Given the description of an element on the screen output the (x, y) to click on. 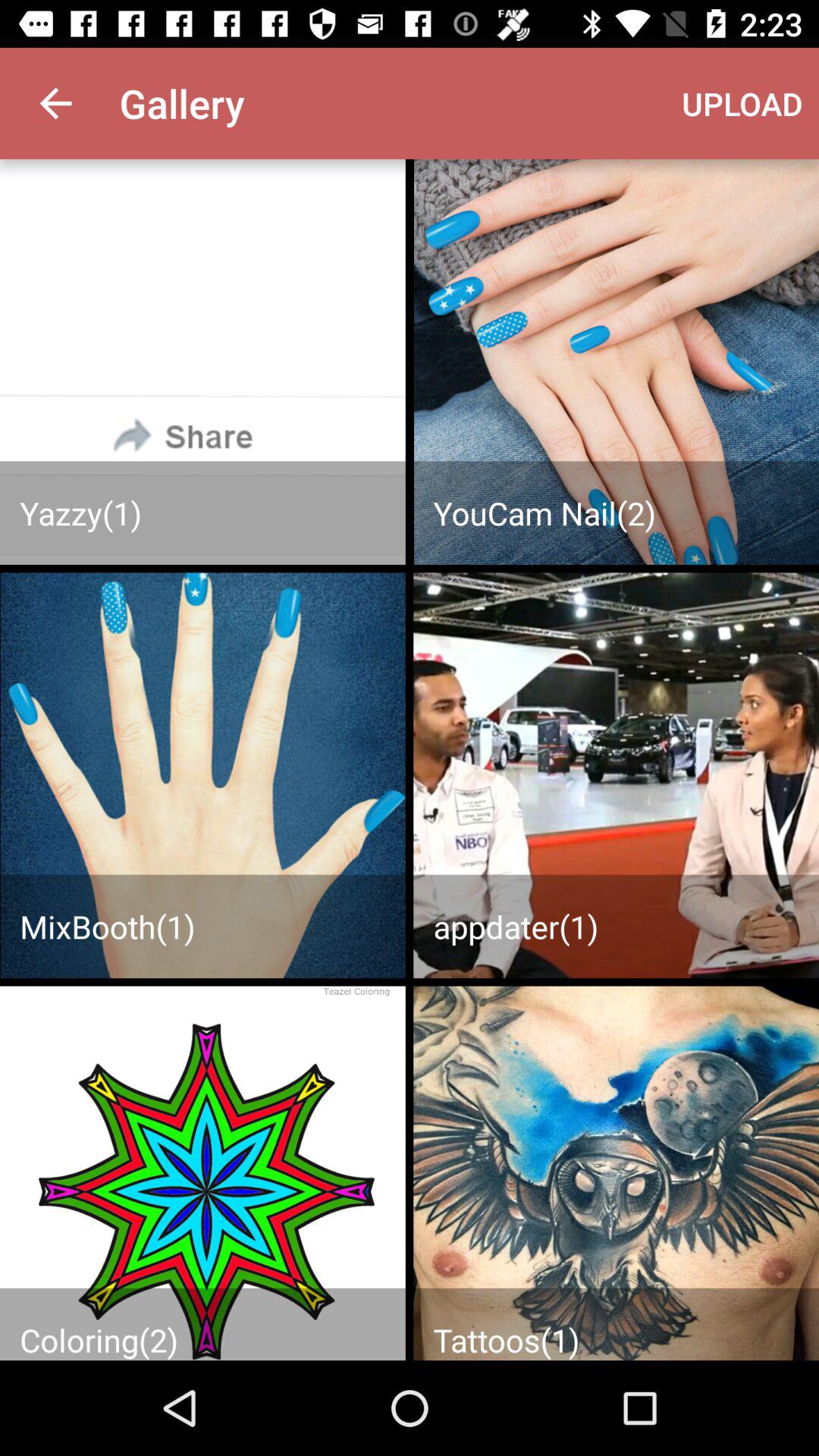
view the youcam nail 2 folder (616, 361)
